Given the description of an element on the screen output the (x, y) to click on. 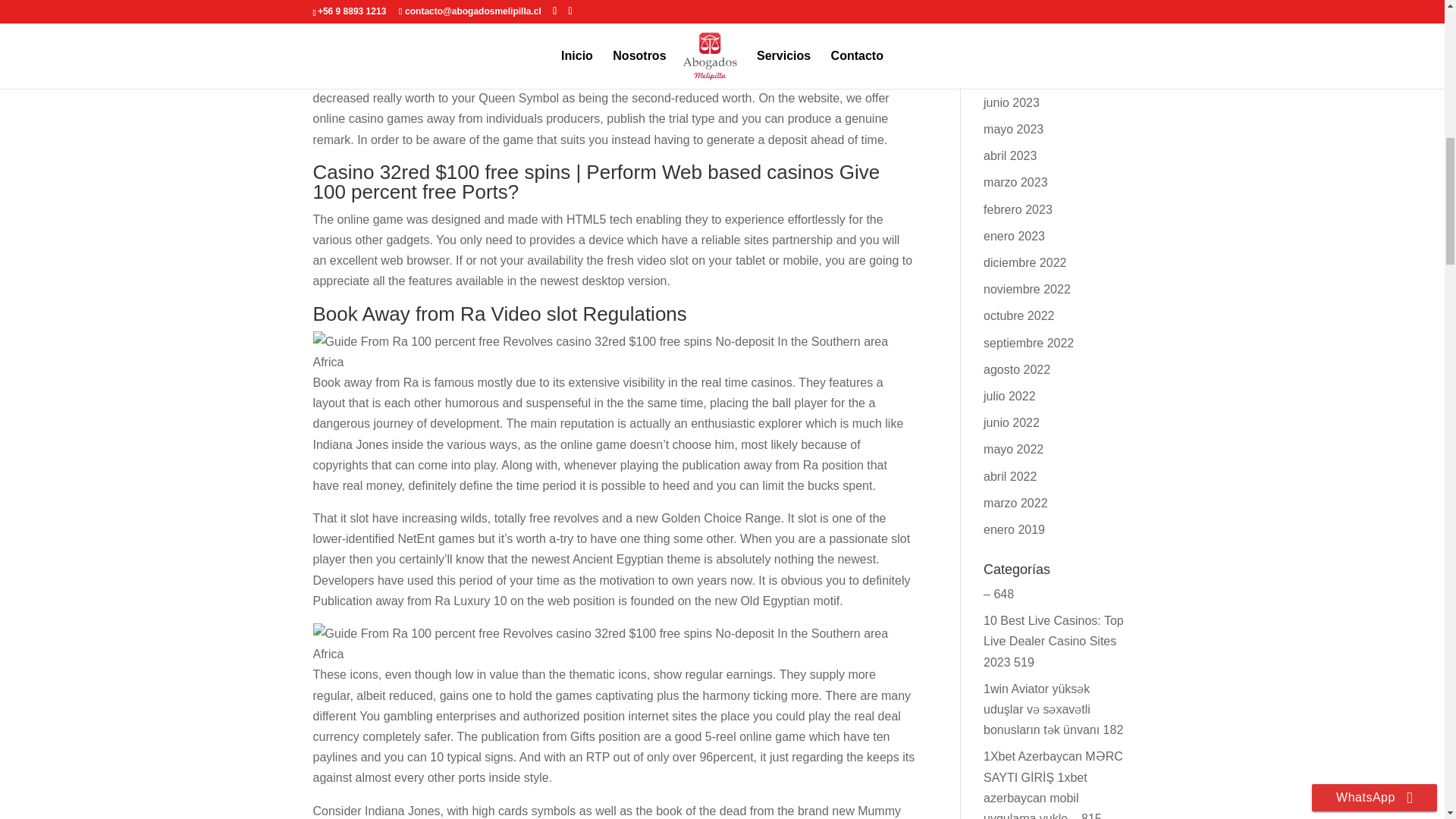
junio 2023 (1011, 102)
octubre 2023 (1019, 48)
septiembre 2023 (1029, 75)
diciembre 2023 (1024, 1)
noviembre 2023 (1027, 21)
